Given the description of an element on the screen output the (x, y) to click on. 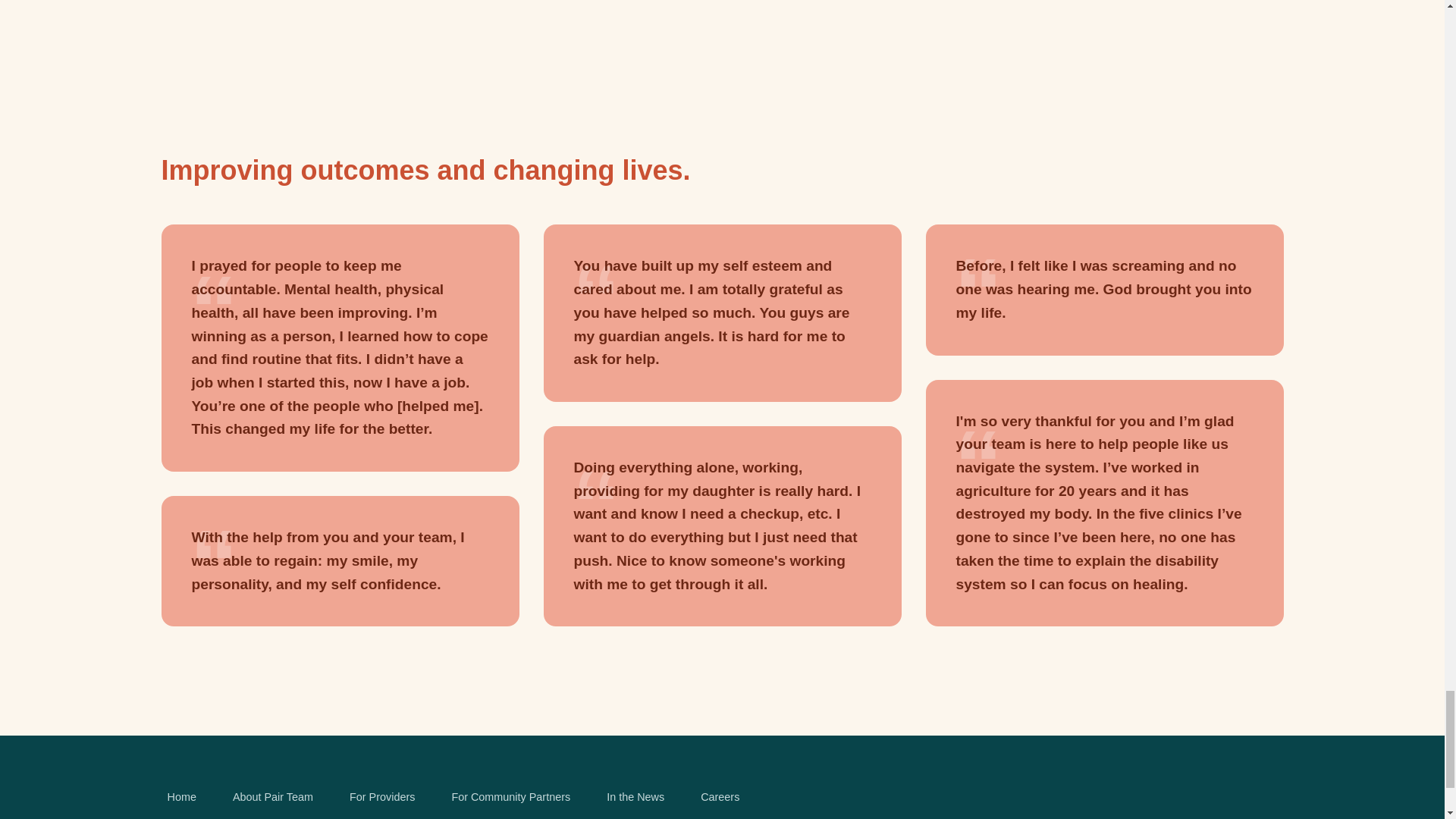
Home (181, 796)
Careers (719, 796)
About Pair Team (272, 796)
For Community Partners (510, 796)
In the News (634, 796)
For Providers (381, 796)
